Given the description of an element on the screen output the (x, y) to click on. 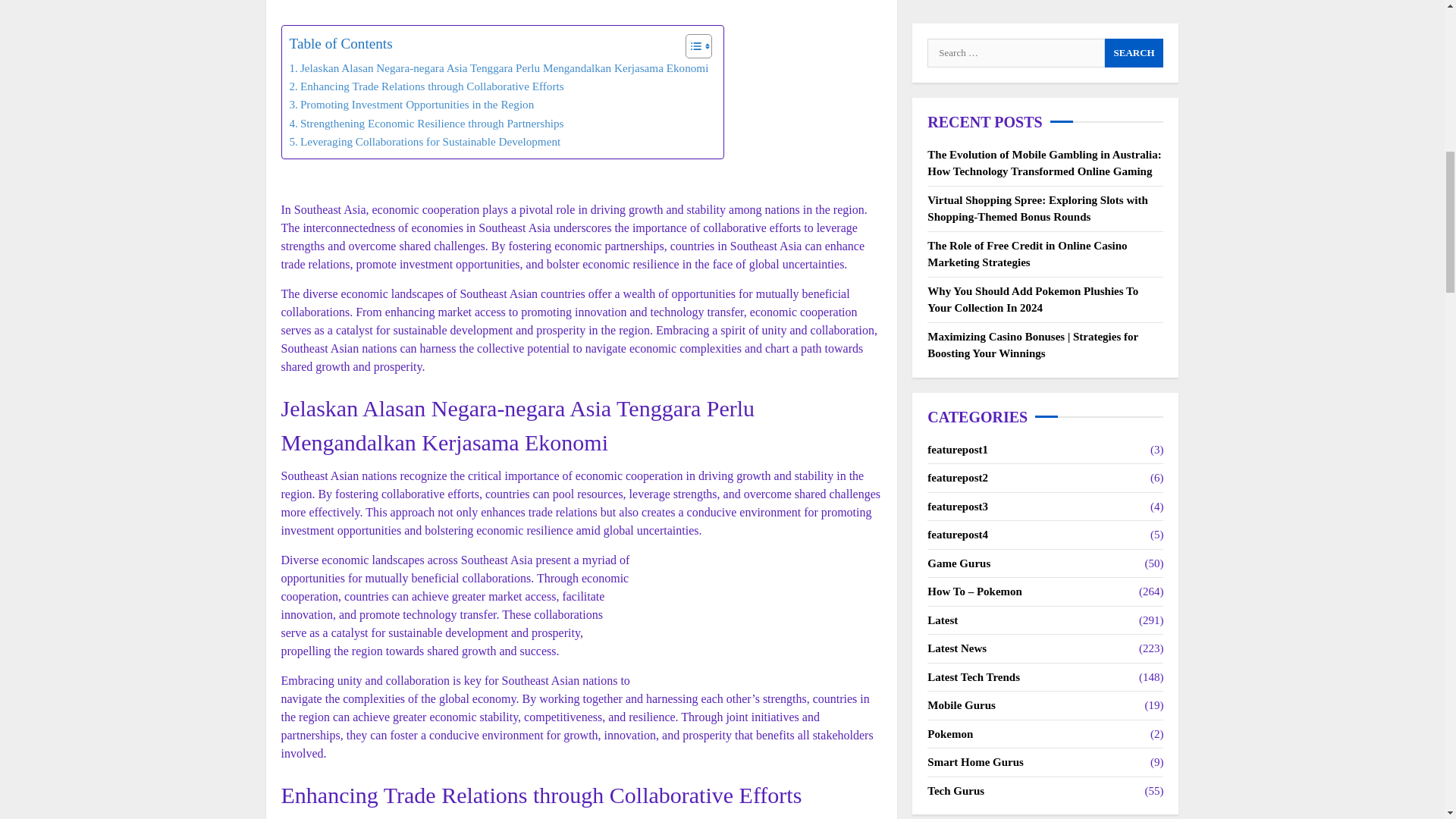
Promoting Investment Opportunities in the Region (411, 104)
Enhancing Trade Relations through Collaborative Efforts (426, 85)
Strengthening Economic Resilience through Partnerships (426, 123)
Leveraging Collaborations for Sustainable Development (424, 141)
Enhancing Trade Relations through Collaborative Efforts (426, 85)
Promoting Investment Opportunities in the Region (411, 104)
Leveraging Collaborations for Sustainable Development (424, 141)
Strengthening Economic Resilience through Partnerships (426, 123)
